Given the description of an element on the screen output the (x, y) to click on. 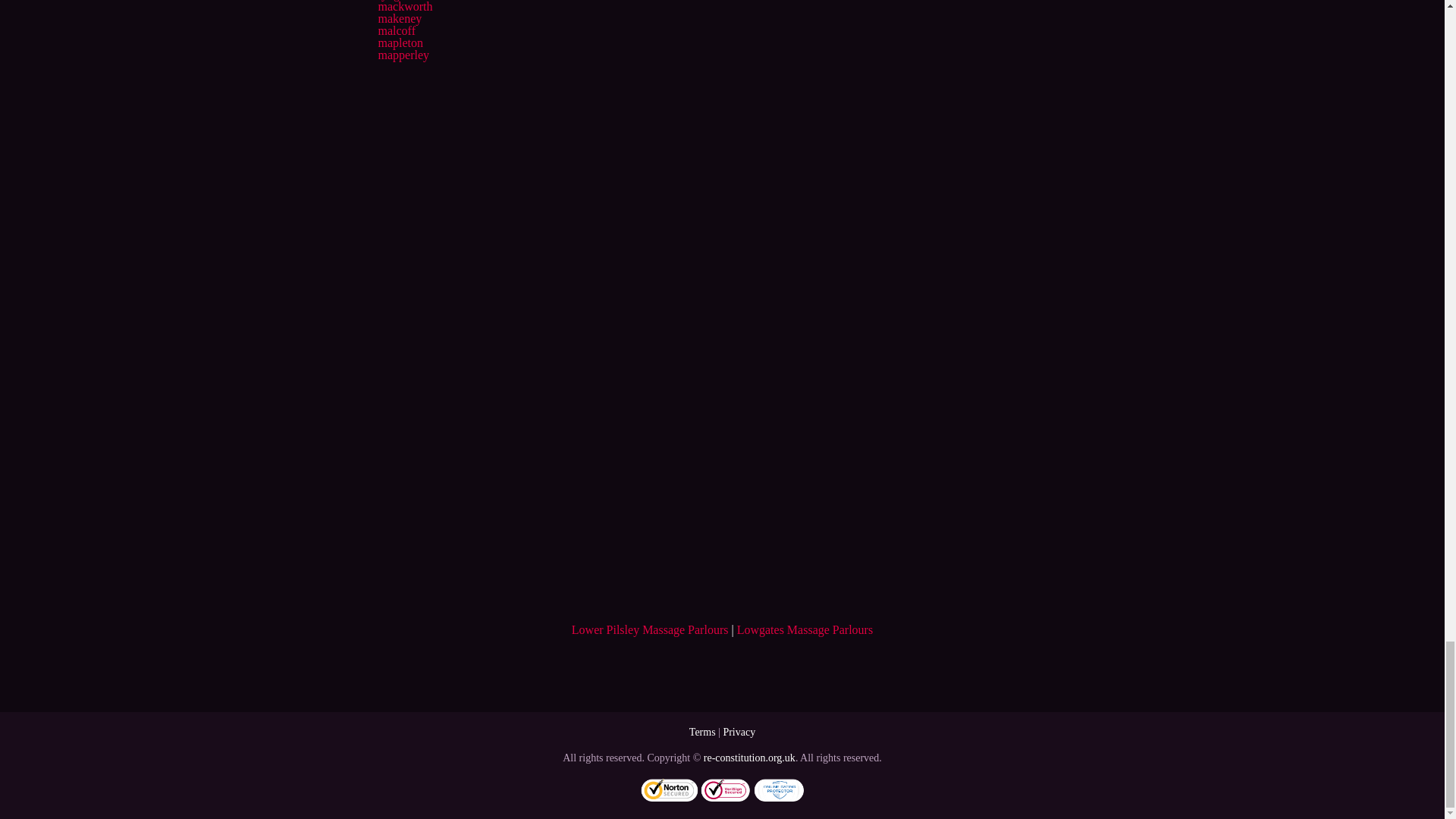
Lower Pilsley Massage Parlours (650, 629)
mapperley (403, 54)
Terms (702, 731)
Lowgates Massage Parlours (804, 629)
re-constitution.org.uk (748, 757)
Terms (702, 731)
malcoff (395, 30)
Privacy (738, 731)
makeney (399, 18)
Privacy (738, 731)
mapleton (400, 42)
mackworth (404, 6)
